Given the description of an element on the screen output the (x, y) to click on. 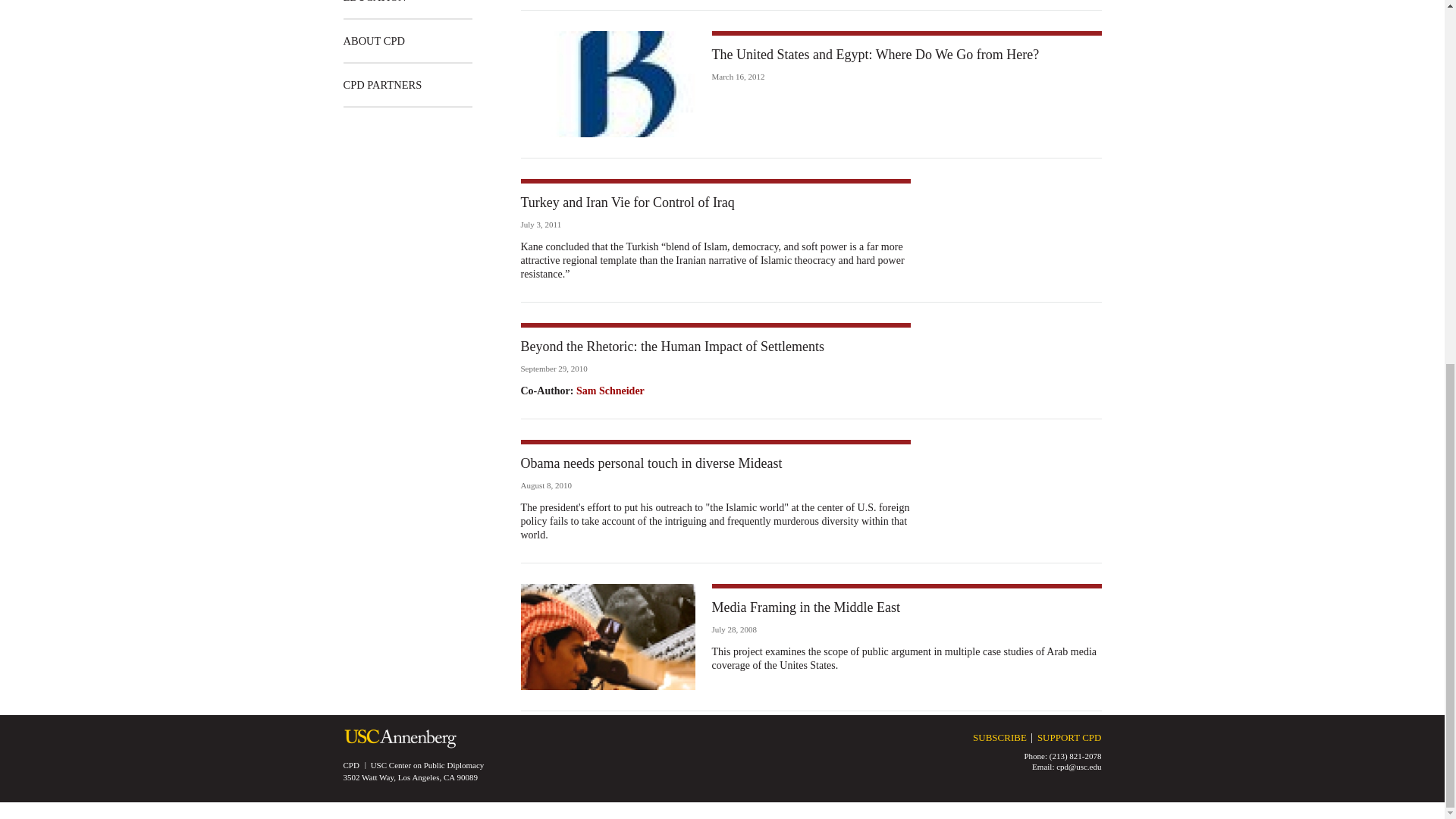
EDUCATION (374, 9)
